Given the description of an element on the screen output the (x, y) to click on. 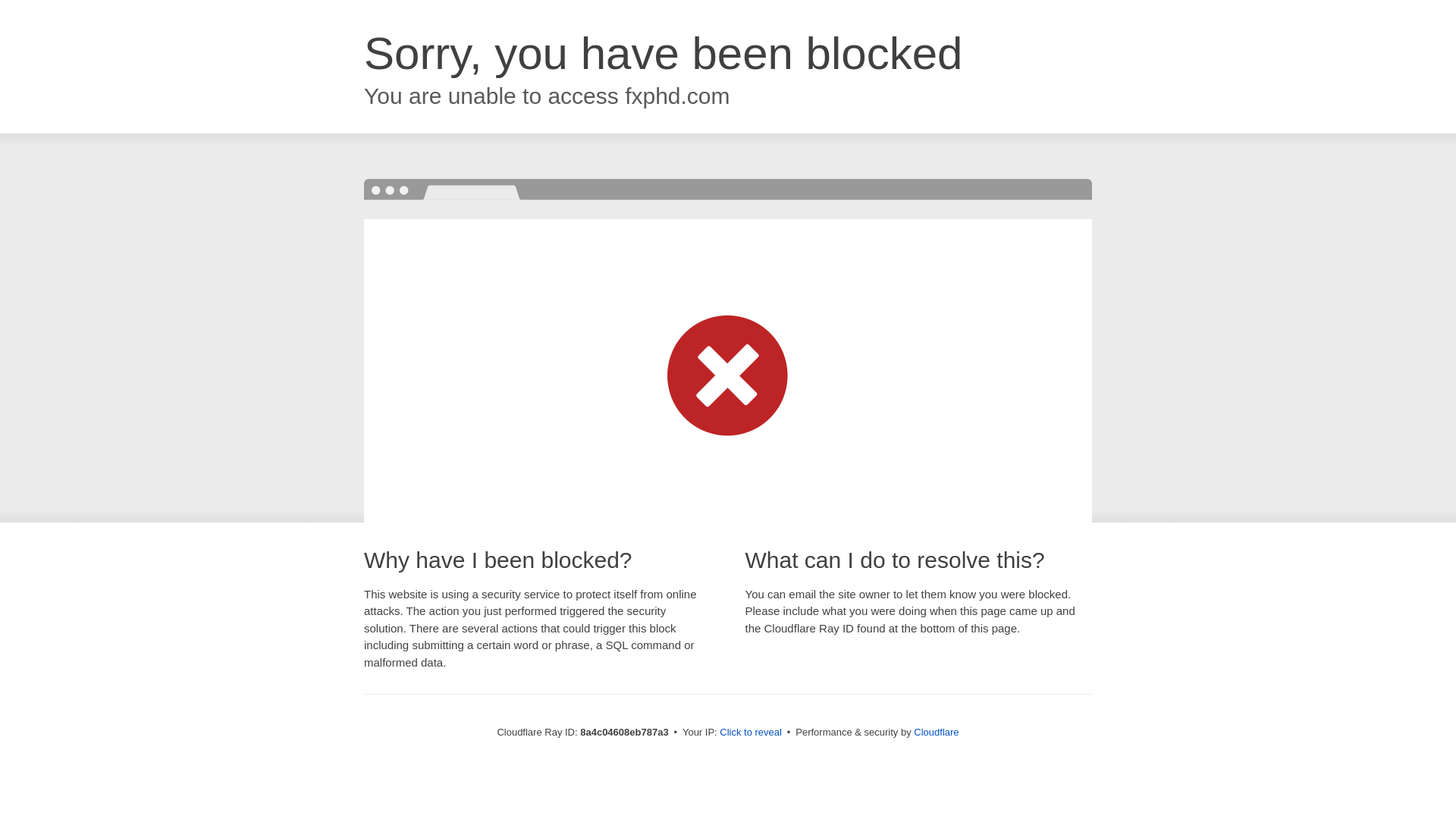
Click to reveal (750, 732)
Cloudflare (936, 731)
